Given the description of an element on the screen output the (x, y) to click on. 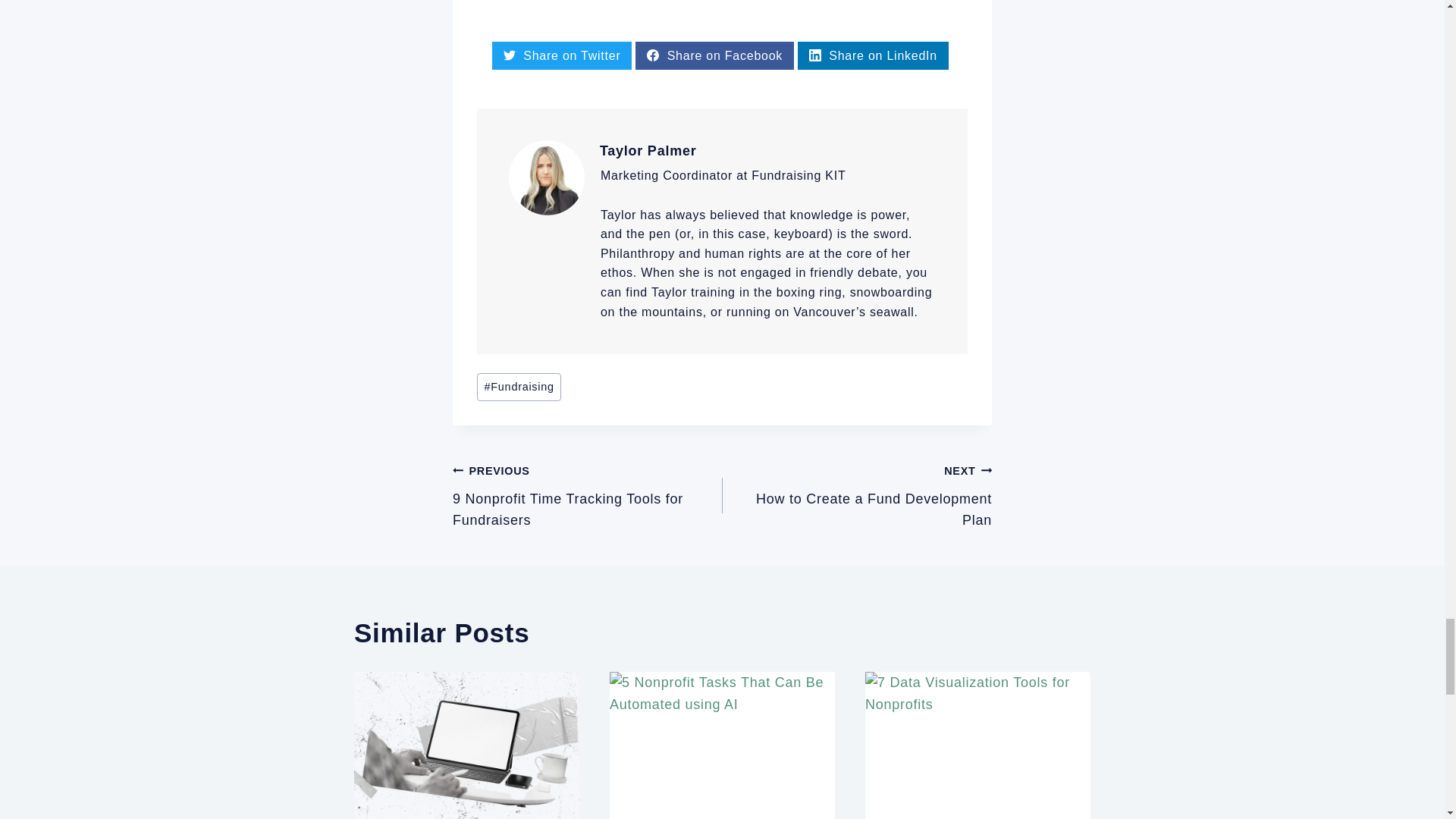
Share on LinkedIn (873, 55)
Share on Facebook (713, 55)
Share on Twitter (561, 55)
Fundraising (518, 387)
